Given the description of an element on the screen output the (x, y) to click on. 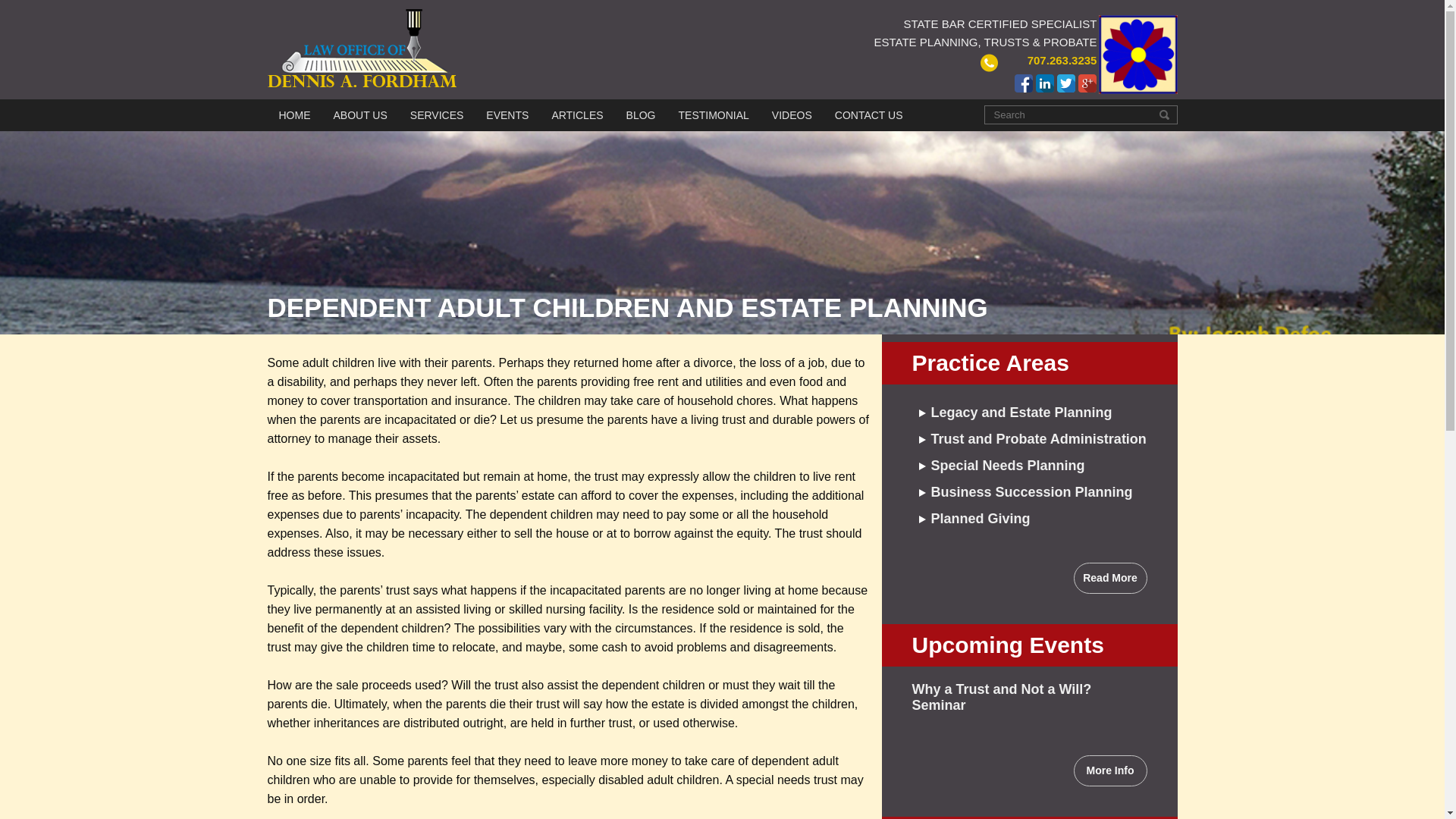
Twitter (1066, 83)
ARTICLES (576, 115)
TESTIMONIAL (713, 115)
ABOUT US (360, 115)
More Info (1110, 770)
CONTACT US (868, 115)
The Law Office of Dennis Fordham (360, 47)
SERVICES (437, 115)
VIDEOS (791, 115)
HOME (295, 115)
Linkedin (1044, 83)
Facebook (1023, 83)
BLOG (641, 115)
Read More (1110, 577)
EVENTS (507, 115)
